Given the description of an element on the screen output the (x, y) to click on. 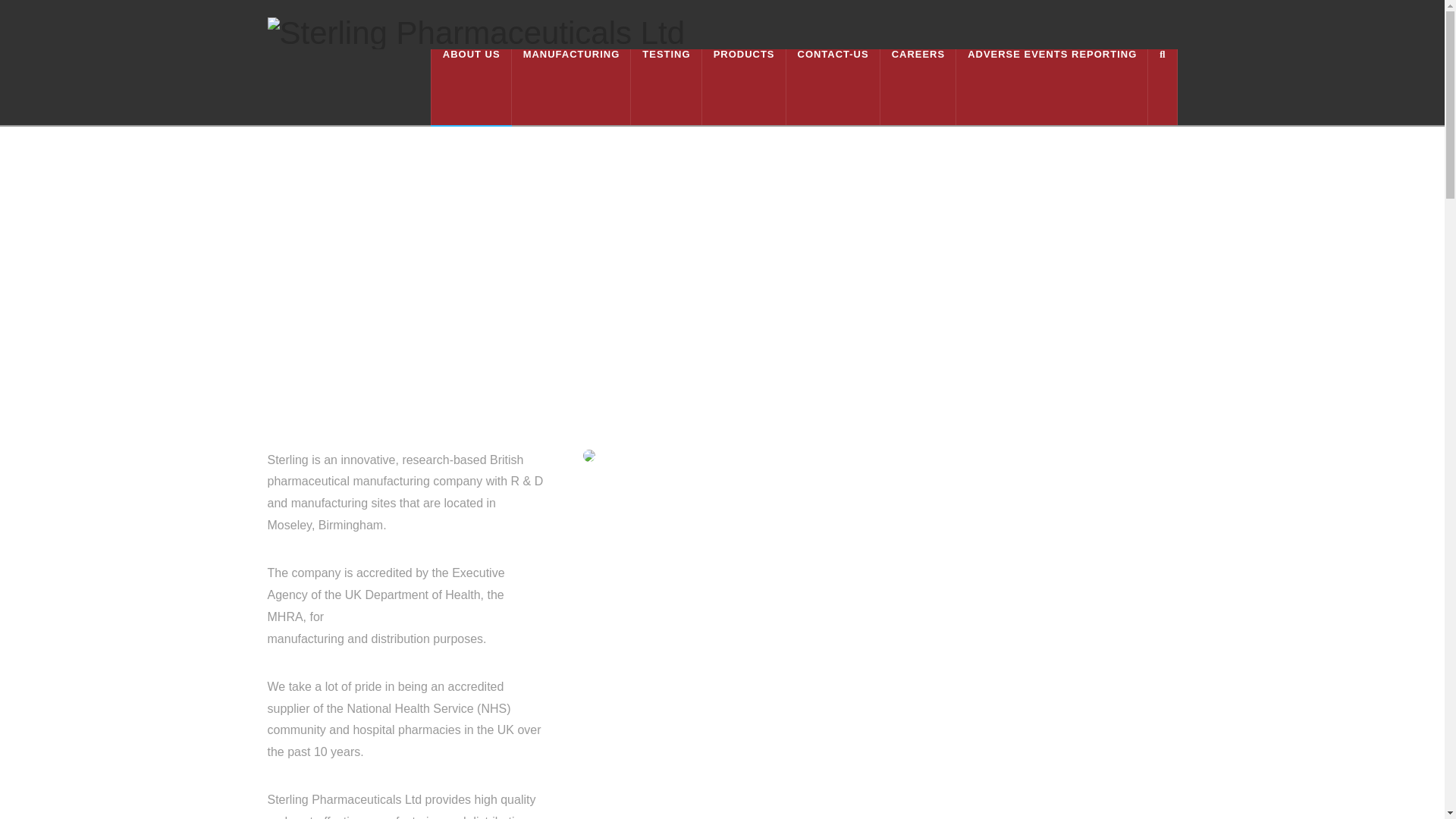
ADVERSE EVENTS REPORTING (1052, 87)
TESTING (665, 87)
CAREERS (918, 87)
CONTACT-US (832, 87)
MANUFACTURING (571, 87)
ABOUT US (471, 87)
PRODUCTS (743, 87)
